Given the description of an element on the screen output the (x, y) to click on. 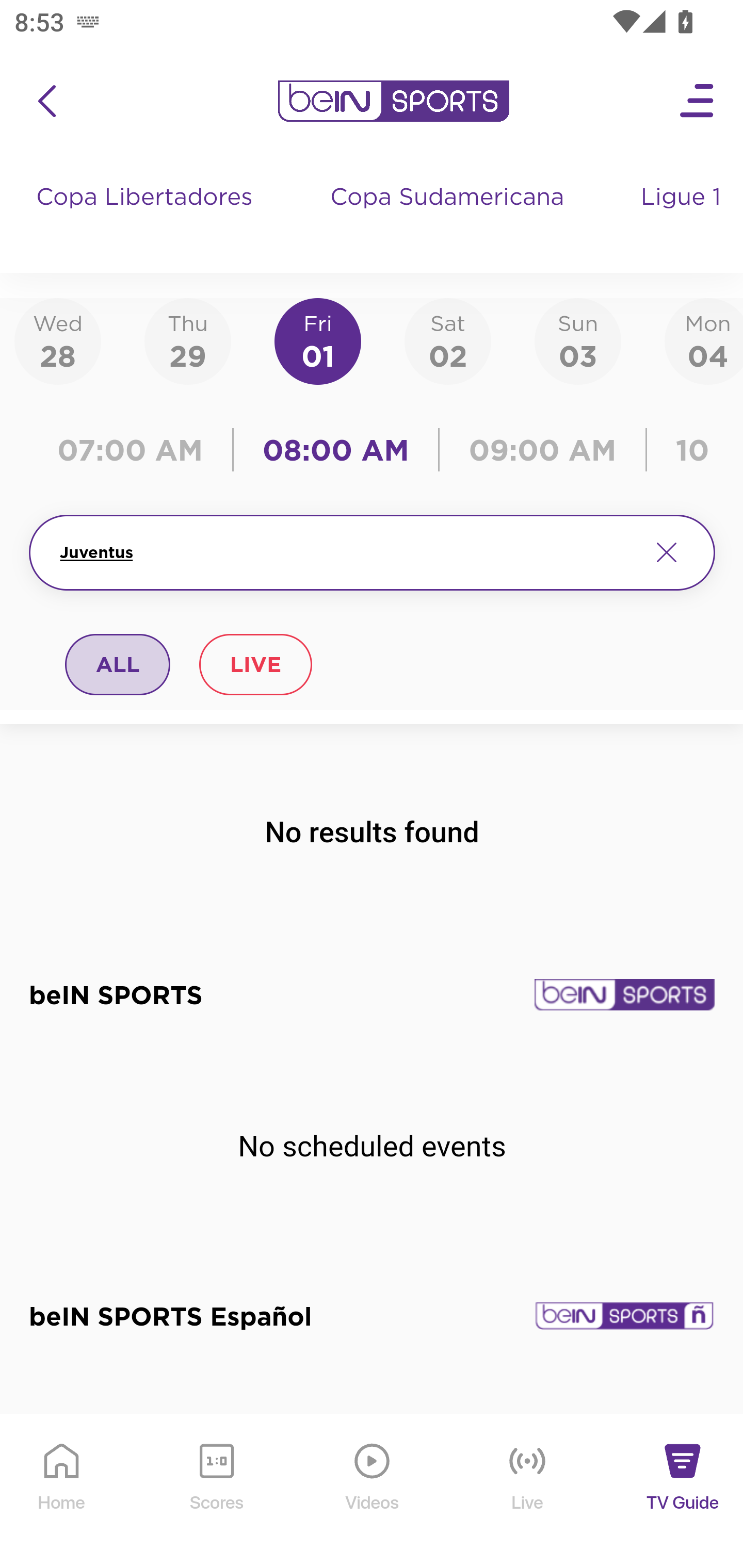
en-us?platform=mobile_android bein logo (392, 101)
icon back (46, 101)
Open Menu Icon (697, 101)
Copa Libertadores (146, 216)
Copa Sudamericana (448, 216)
Ligue 1 (682, 216)
Wed28 (58, 340)
Thu29 (187, 340)
Fri01 (318, 340)
Sat02 (447, 340)
Sun03 (578, 340)
Mon04 (703, 340)
07:00 AM (135, 449)
08:00 AM (336, 449)
09:00 AM (542, 449)
Juventus (346, 552)
ALL (118, 663)
LIVE (255, 663)
Home Home Icon Home (61, 1491)
Scores Scores Icon Scores (216, 1491)
Videos Videos Icon Videos (372, 1491)
TV Guide TV Guide Icon TV Guide (682, 1491)
